Given the description of an element on the screen output the (x, y) to click on. 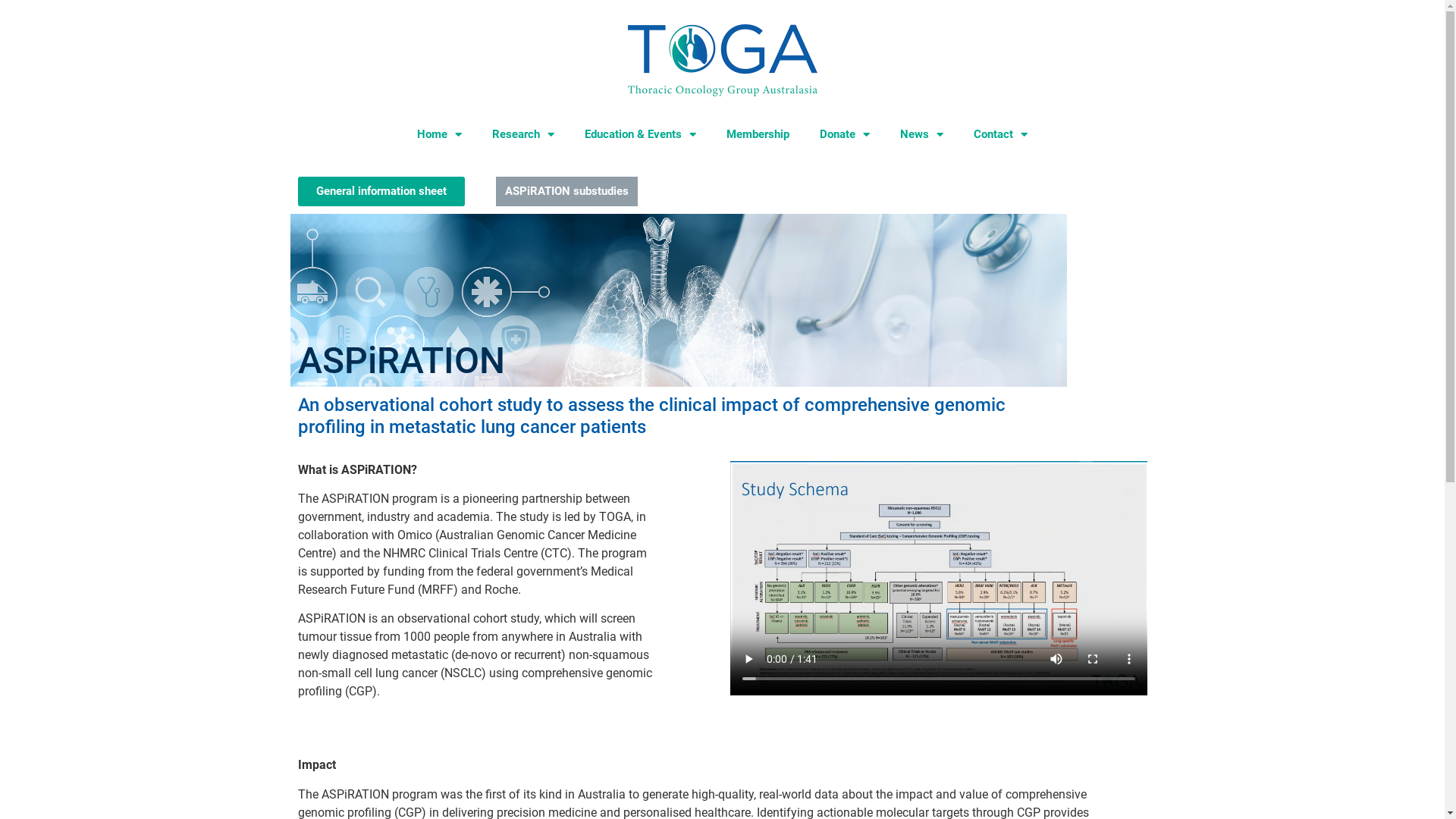
Donate Element type: text (844, 133)
General information sheet Element type: text (380, 191)
Research Element type: text (522, 133)
Education & Events Element type: text (640, 133)
Membership Element type: text (757, 133)
Contact Element type: text (1000, 133)
News Element type: text (921, 133)
Home Element type: text (438, 133)
ASPiRATION substudies Element type: text (566, 191)
